Given the description of an element on the screen output the (x, y) to click on. 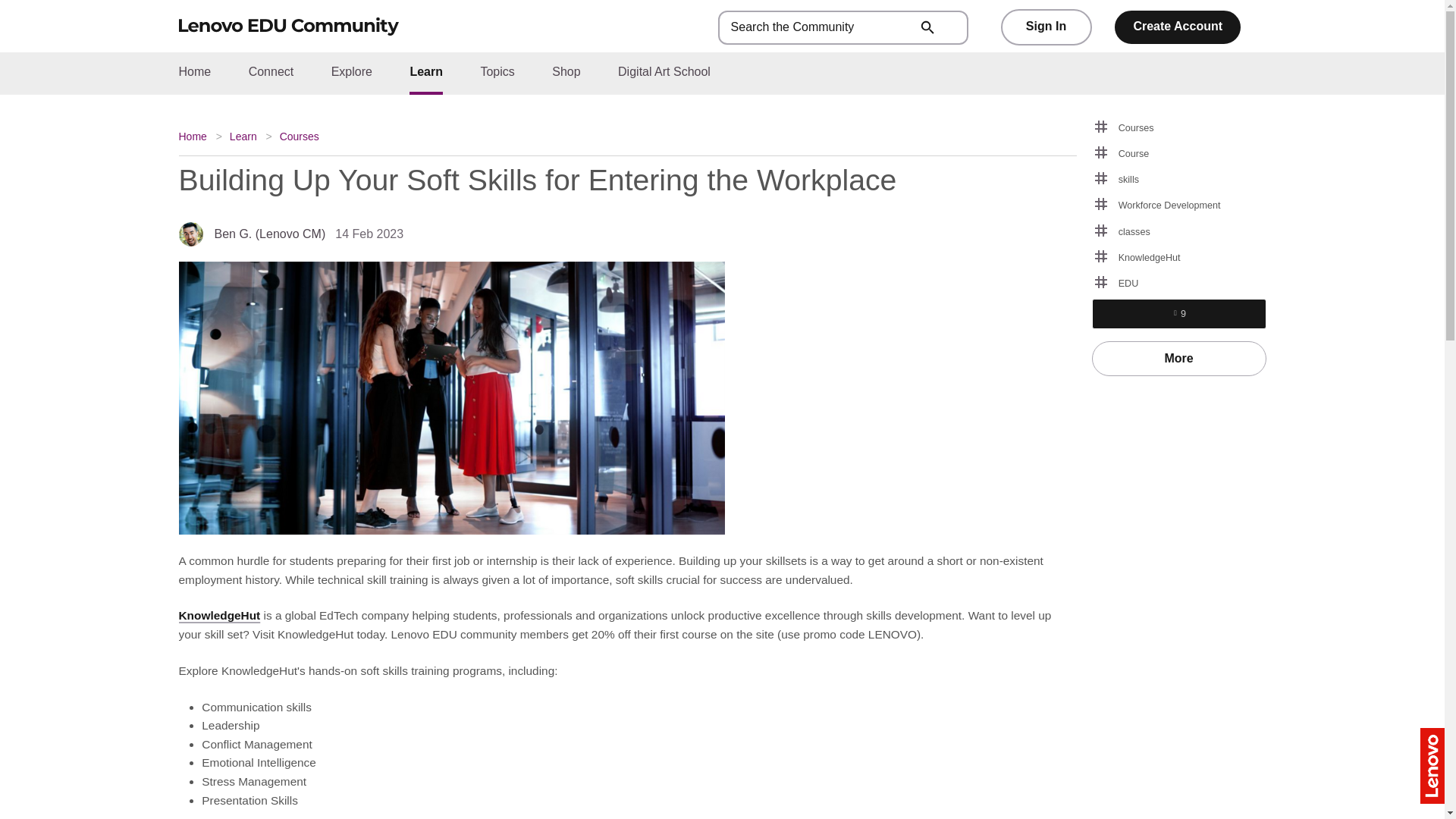
9 (1179, 313)
Connect (271, 71)
classes (1179, 231)
Workforce Development (1179, 205)
Learn (243, 136)
EDU (1179, 283)
Create Account (1177, 27)
More (1179, 358)
Courses (1179, 127)
skills (1179, 179)
Courses (299, 136)
Home (196, 136)
Sign In (1046, 27)
Course (1179, 153)
Digital Art School (663, 71)
